Given the description of an element on the screen output the (x, y) to click on. 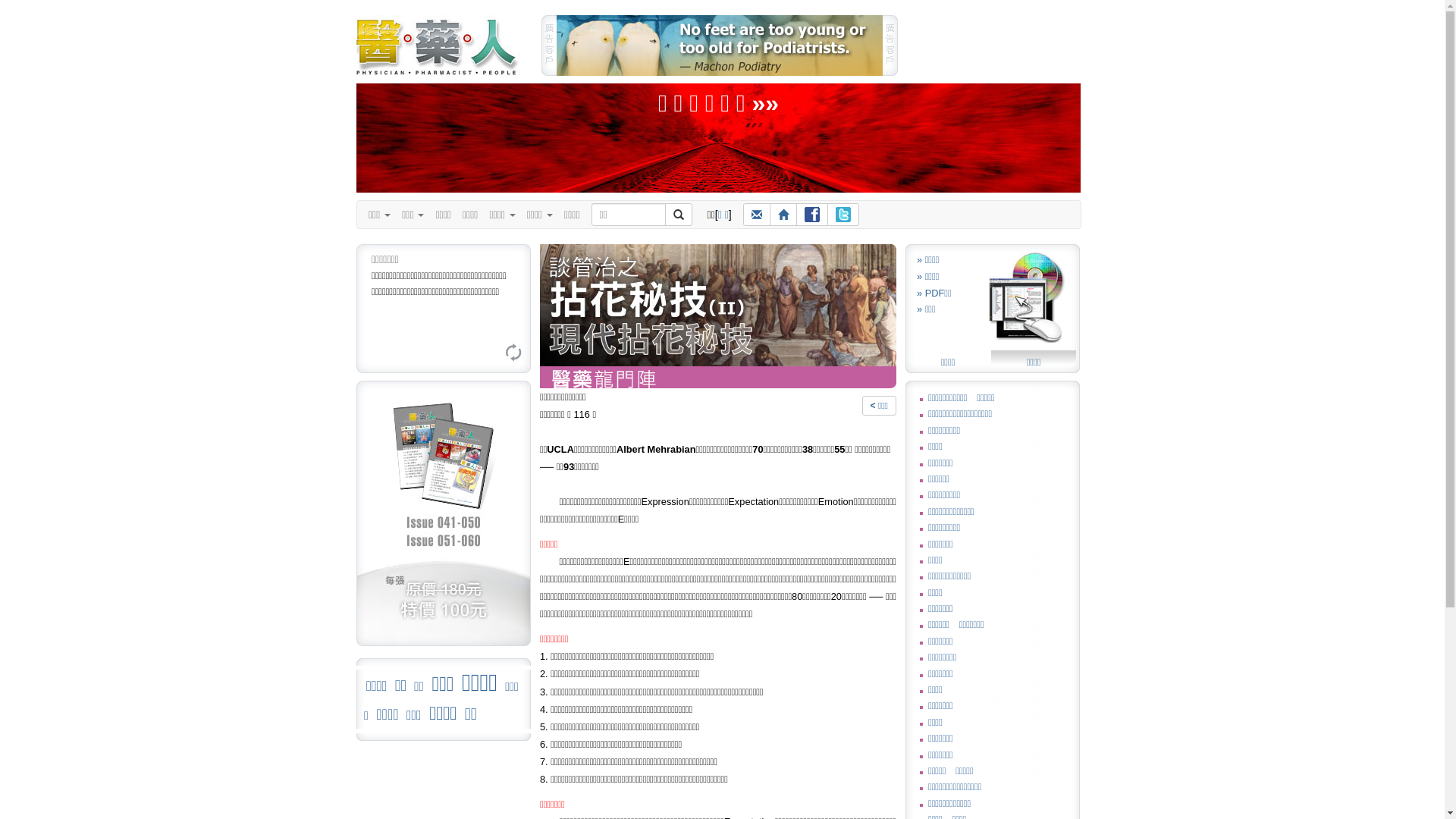
Twitter Element type: hover (843, 214)
Facebook Element type: hover (812, 214)
